Given the description of an element on the screen output the (x, y) to click on. 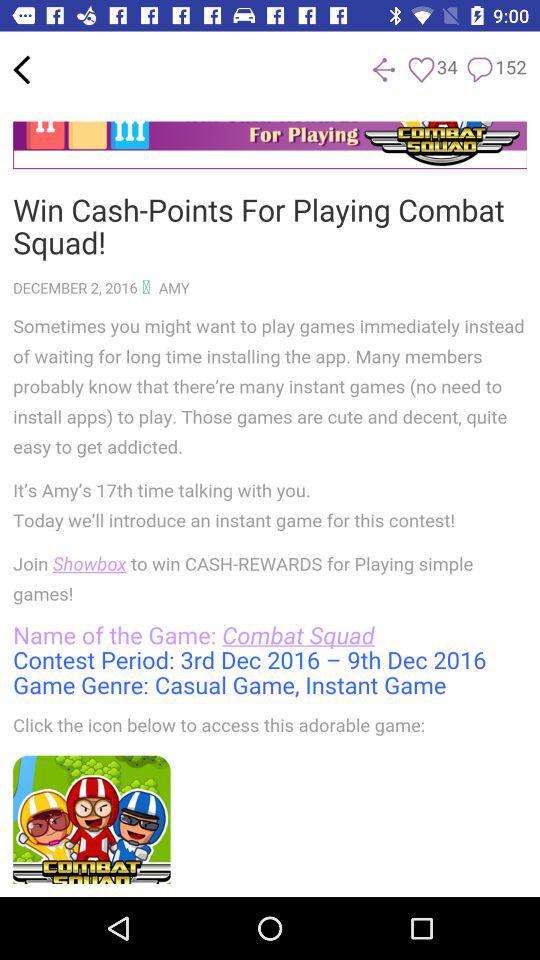
go to previous (384, 69)
